Given the description of an element on the screen output the (x, y) to click on. 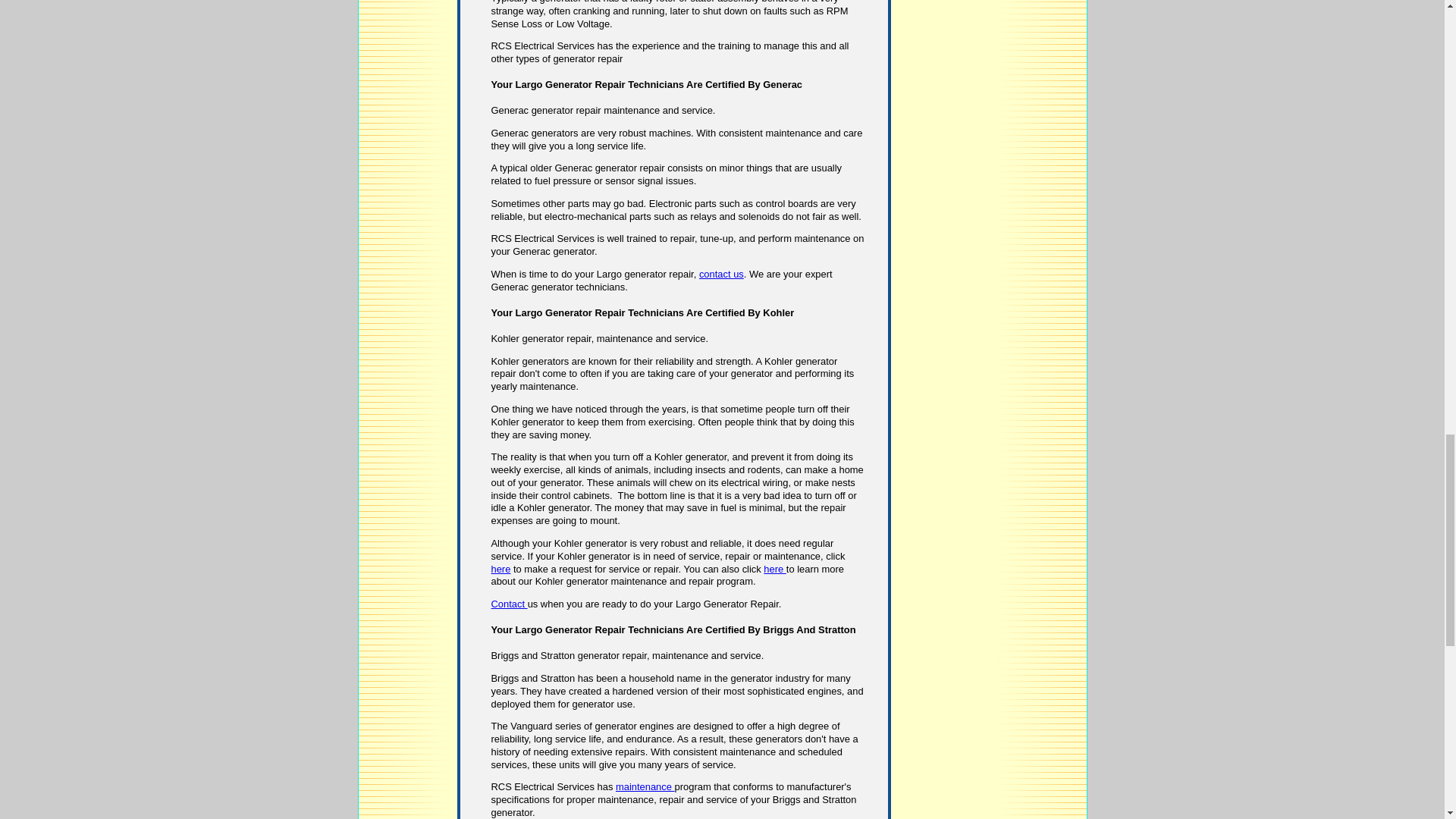
here (501, 568)
here (774, 568)
maintenance (645, 786)
Contact (509, 603)
contact us (721, 274)
